Given the description of an element on the screen output the (x, y) to click on. 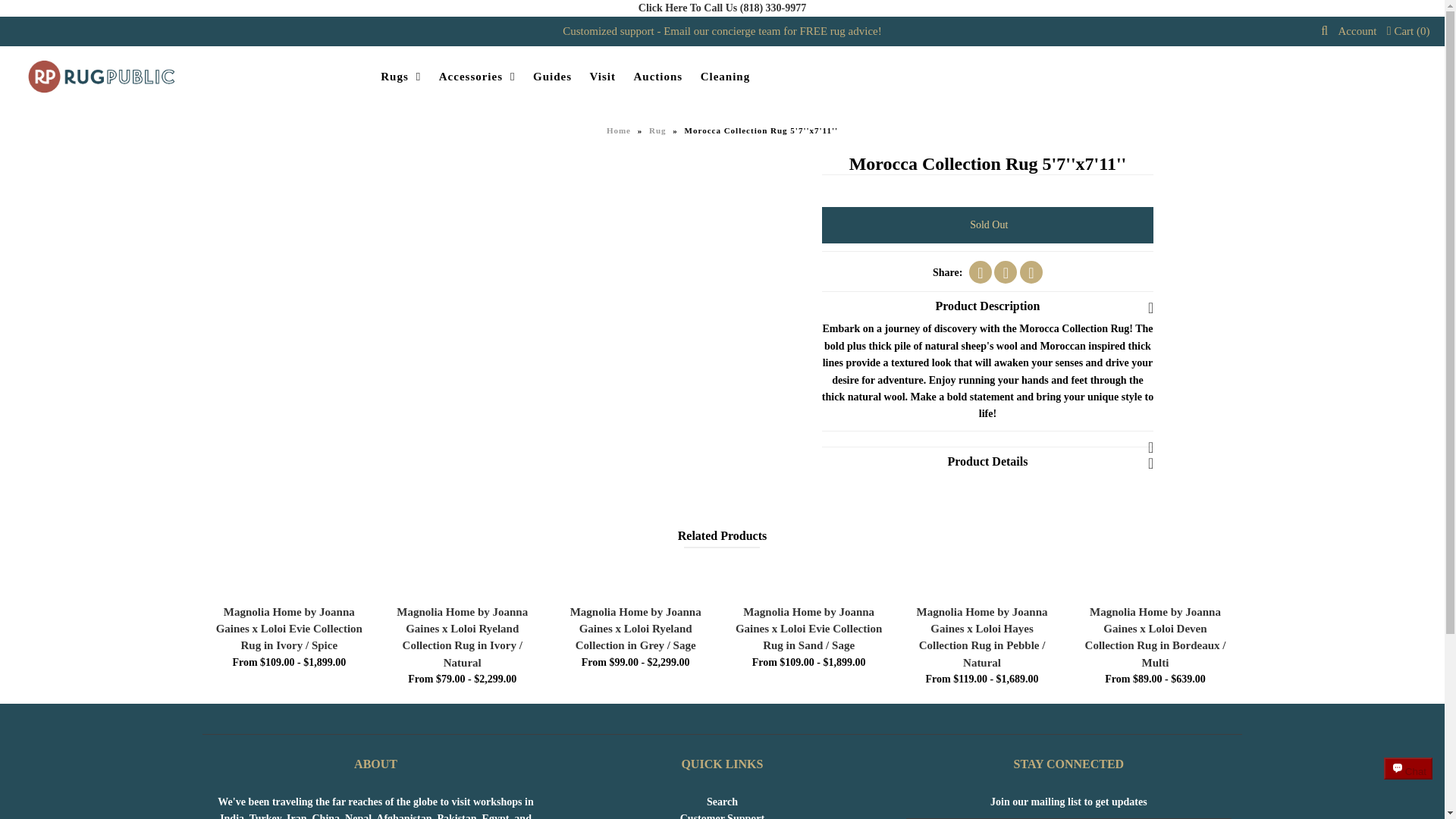
Home (620, 130)
Account (1357, 30)
Rug (659, 130)
Rugs (400, 76)
Share on Twitter (1005, 272)
  Sold Out  (988, 225)
Share on Facebook (980, 272)
Share on Pinterest (1031, 272)
